Given the description of an element on the screen output the (x, y) to click on. 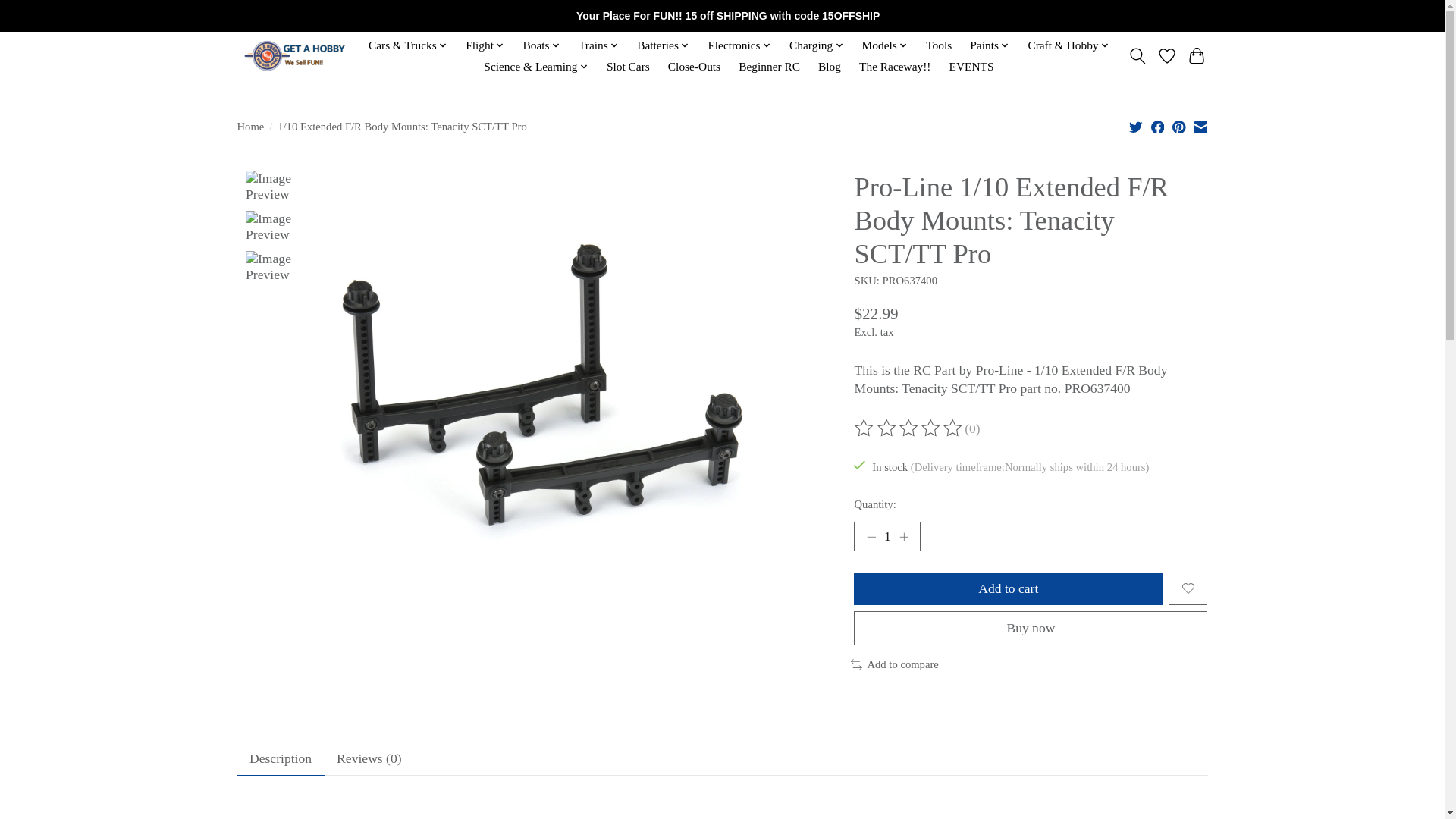
My account (1173, 13)
Full-service hobby store with expert staff  (296, 56)
1 (886, 536)
Share on Pinterest (1178, 126)
Share by Email (1200, 126)
Share on Facebook (1157, 126)
Share on Twitter (1135, 126)
